Given the description of an element on the screen output the (x, y) to click on. 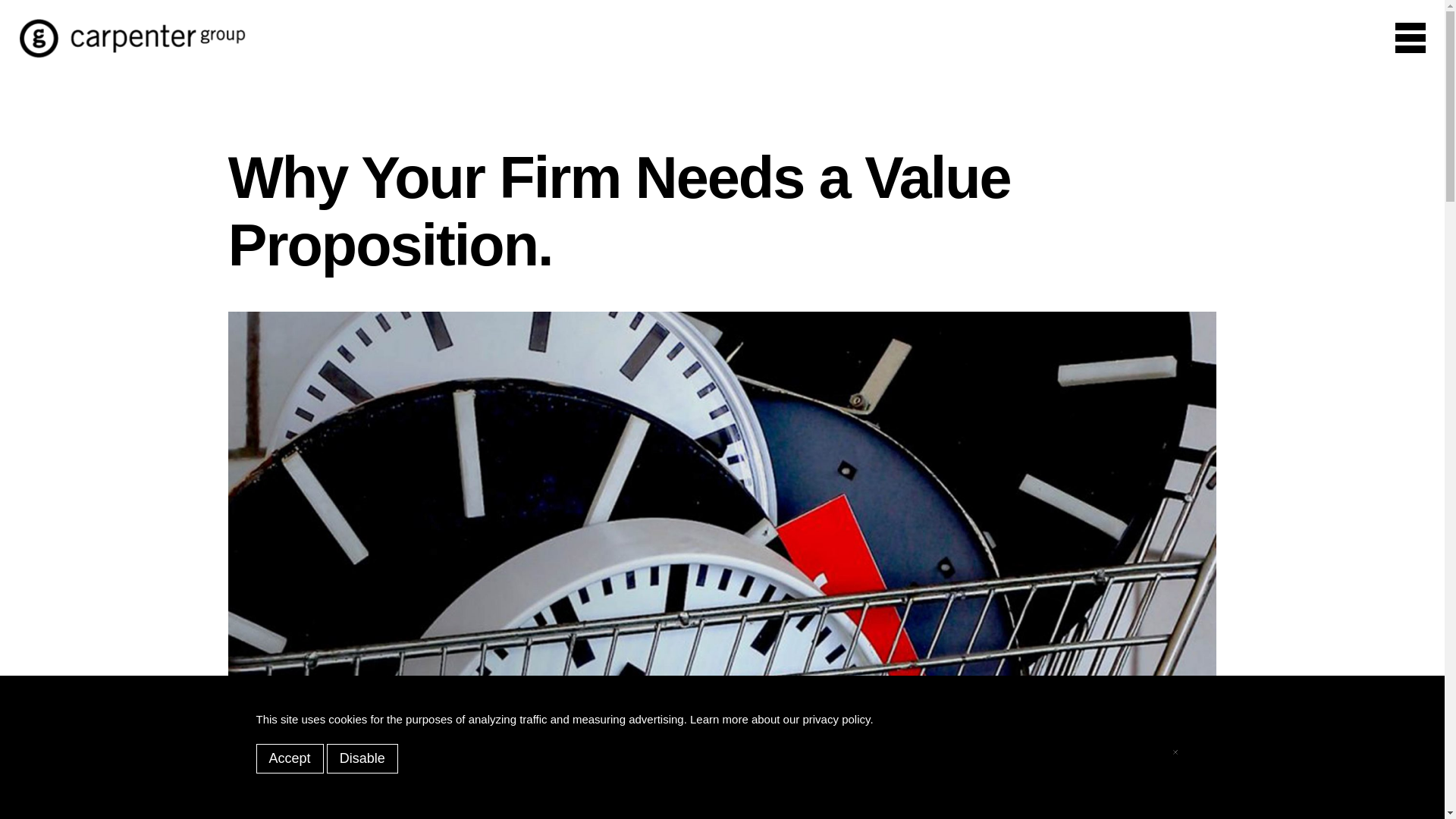
Disable (361, 758)
Carpenter Group (132, 53)
privacy policy (835, 718)
Accept (289, 758)
